Given the description of an element on the screen output the (x, y) to click on. 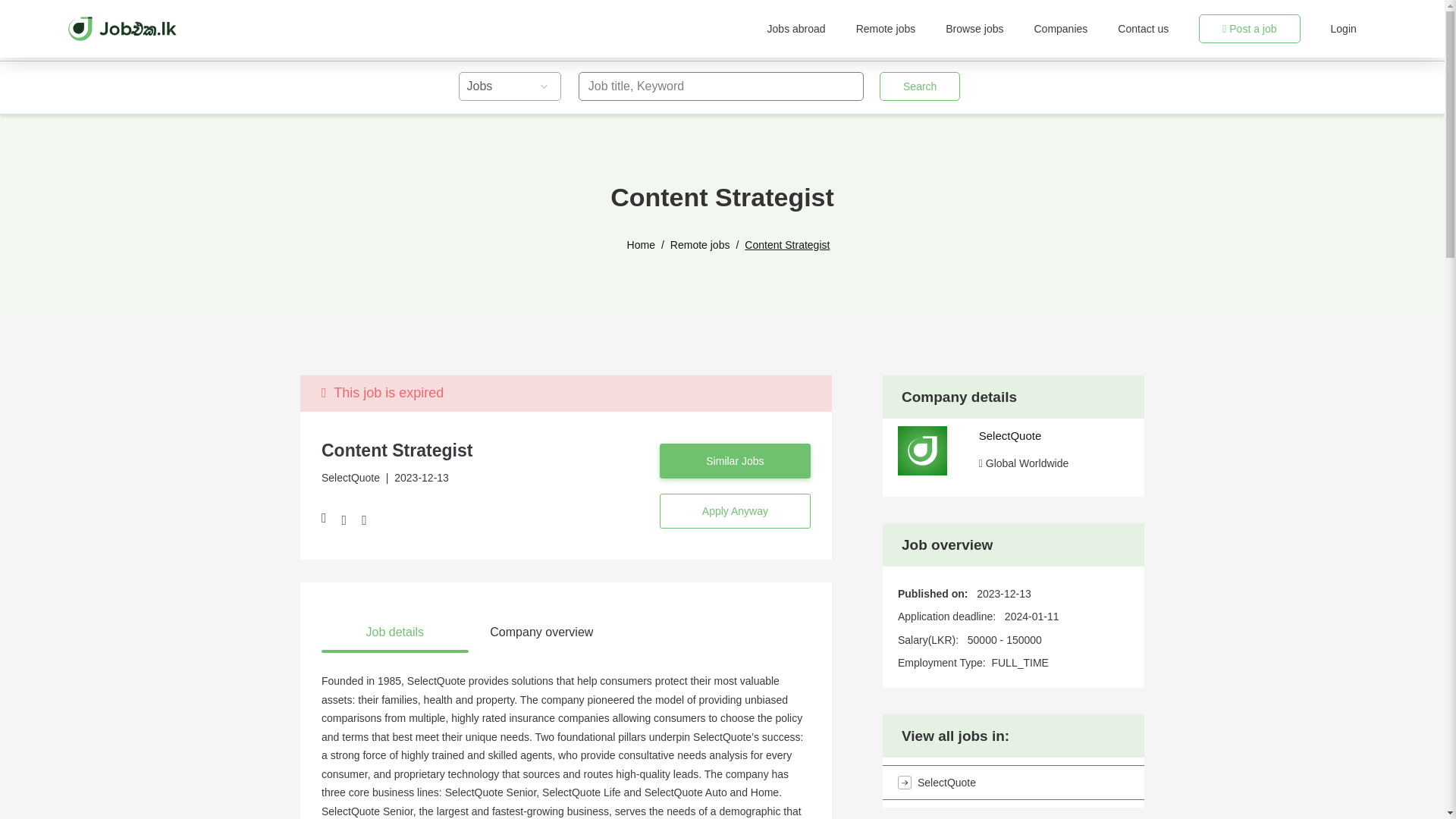
Company overview (541, 632)
Contact us (1143, 28)
Remote jobs (885, 28)
Login (1343, 28)
SelectQuote (1013, 782)
Home (641, 244)
SelectQuote (1010, 435)
Browse jobs (973, 28)
Search (919, 86)
Apply Anyway (734, 510)
